Given the description of an element on the screen output the (x, y) to click on. 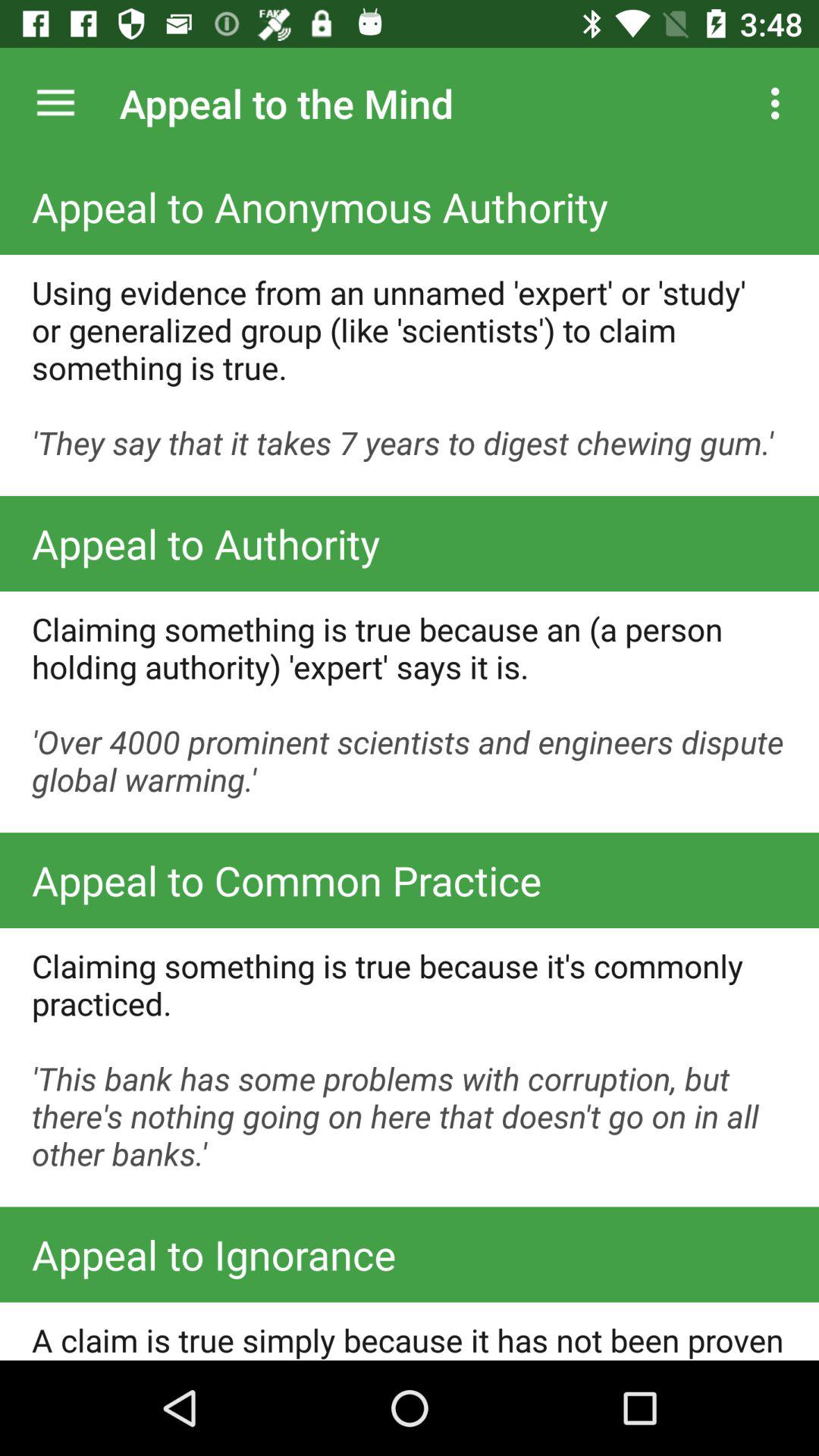
turn off the icon to the right of the appeal to the (779, 103)
